Given the description of an element on the screen output the (x, y) to click on. 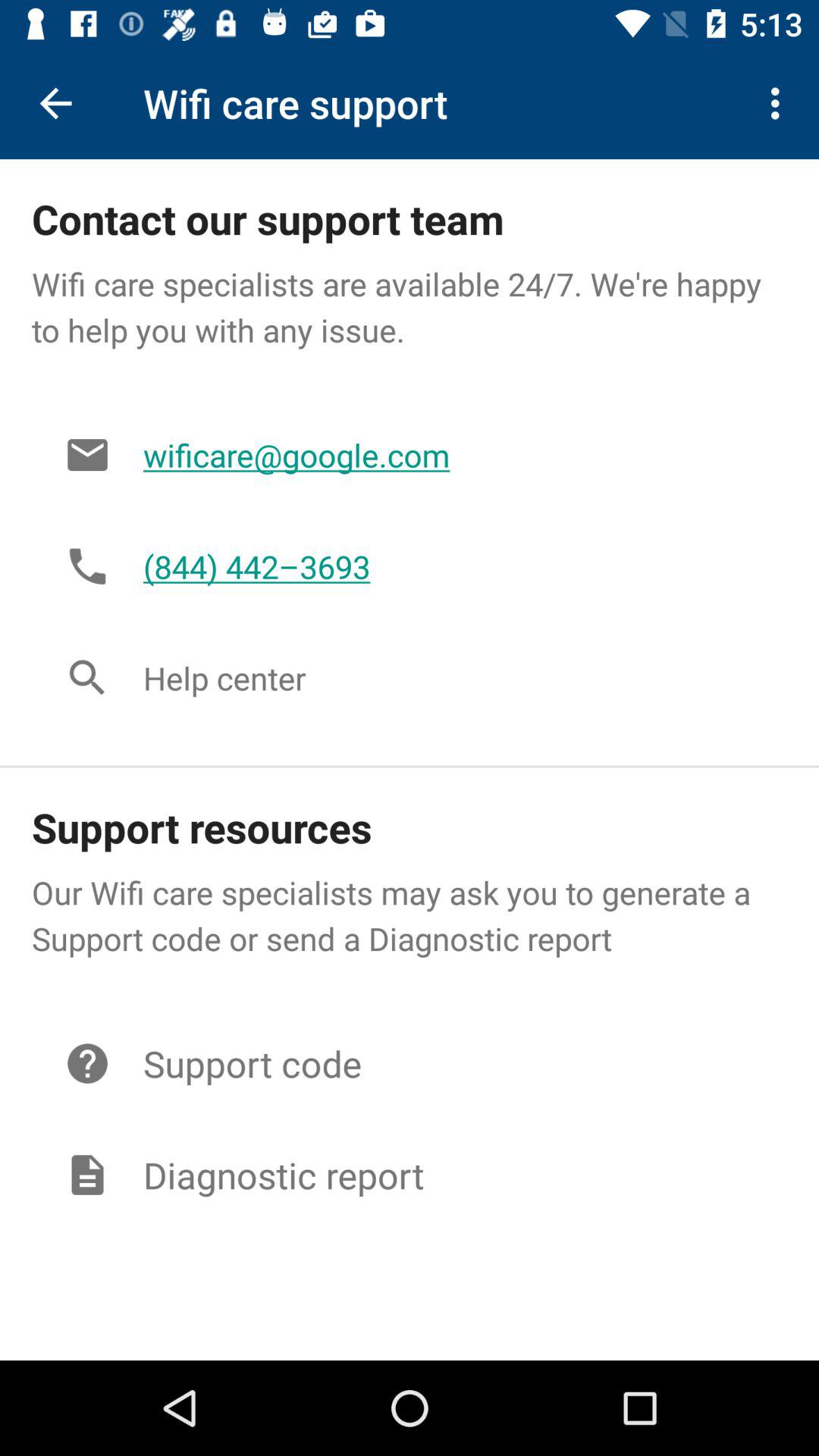
launch the wificare@google.com (449, 454)
